Given the description of an element on the screen output the (x, y) to click on. 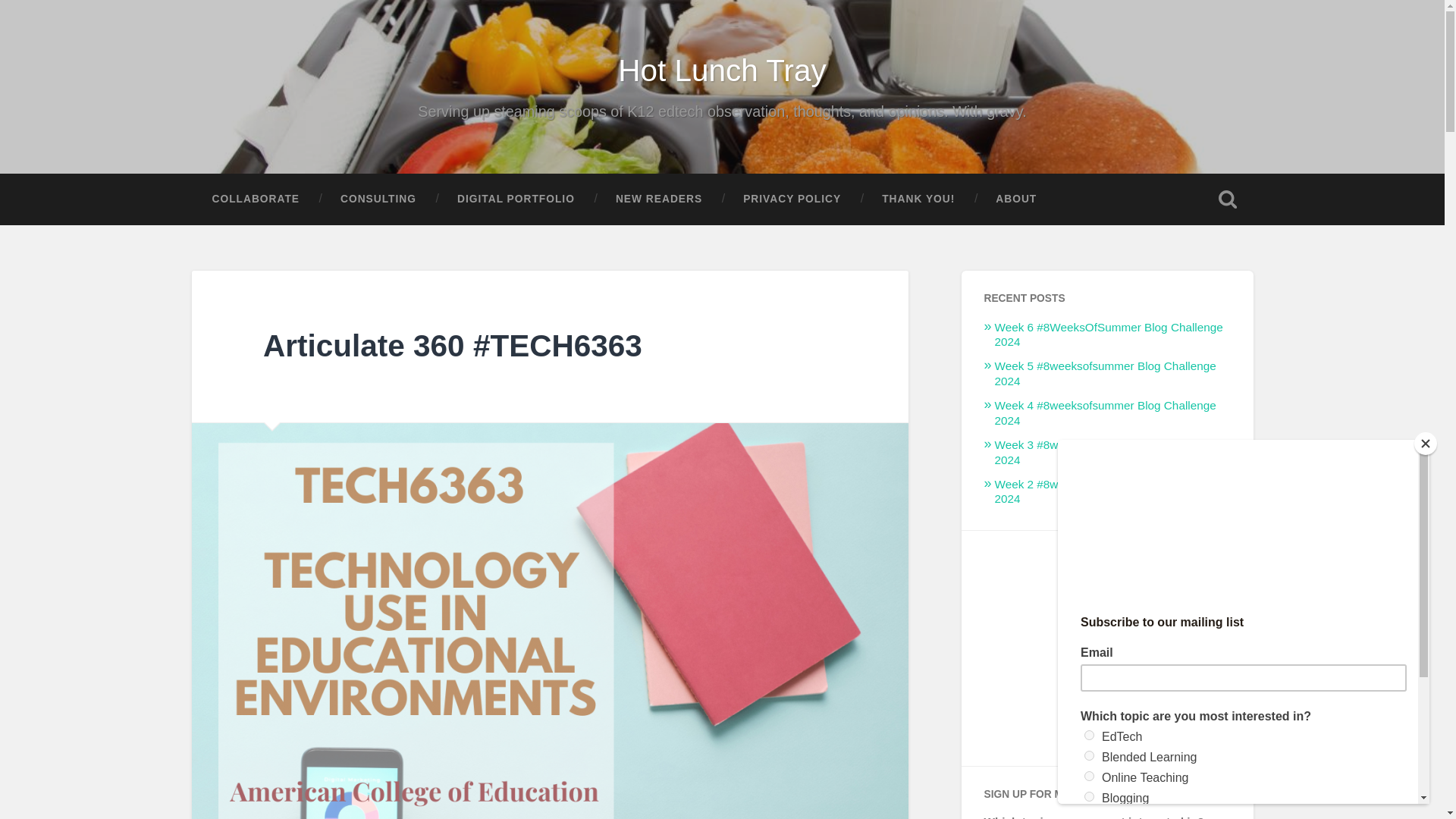
ABOUT (1016, 199)
PRIVACY POLICY (791, 199)
DIGITAL PORTFOLIO (515, 199)
COLLABORATE (255, 199)
NEW READERS (658, 199)
CONSULTING (378, 199)
THANK YOU! (918, 199)
Hot Lunch Tray (722, 70)
